Given the description of an element on the screen output the (x, y) to click on. 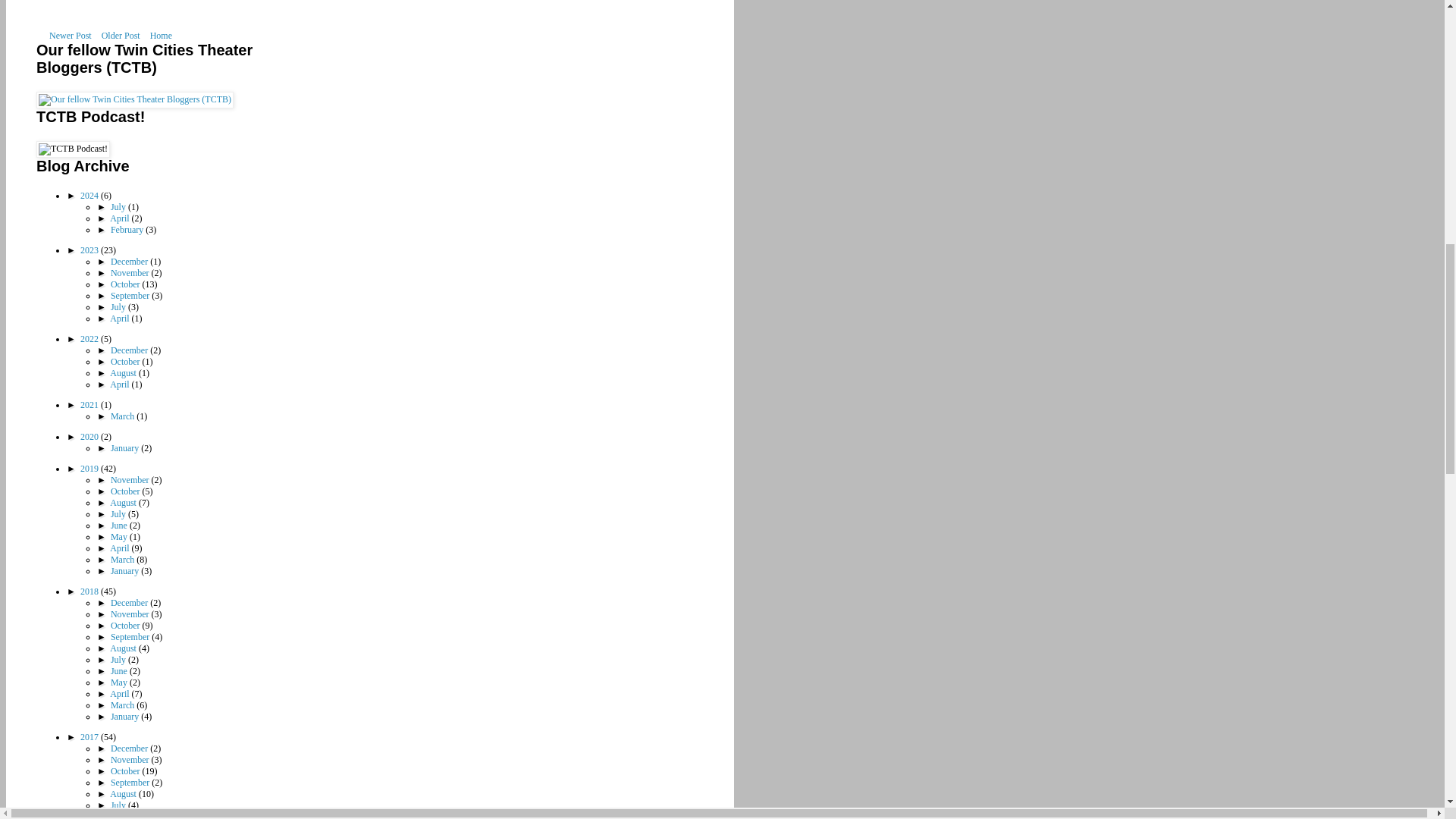
2024 (90, 195)
December (129, 261)
September (130, 295)
2023 (90, 249)
Newer Post (70, 35)
April (120, 217)
Newer Post (70, 35)
July (119, 307)
February (127, 229)
July (119, 206)
October (126, 284)
November (130, 272)
Older Post (120, 35)
Older Post (120, 35)
Home (161, 35)
